Given the description of an element on the screen output the (x, y) to click on. 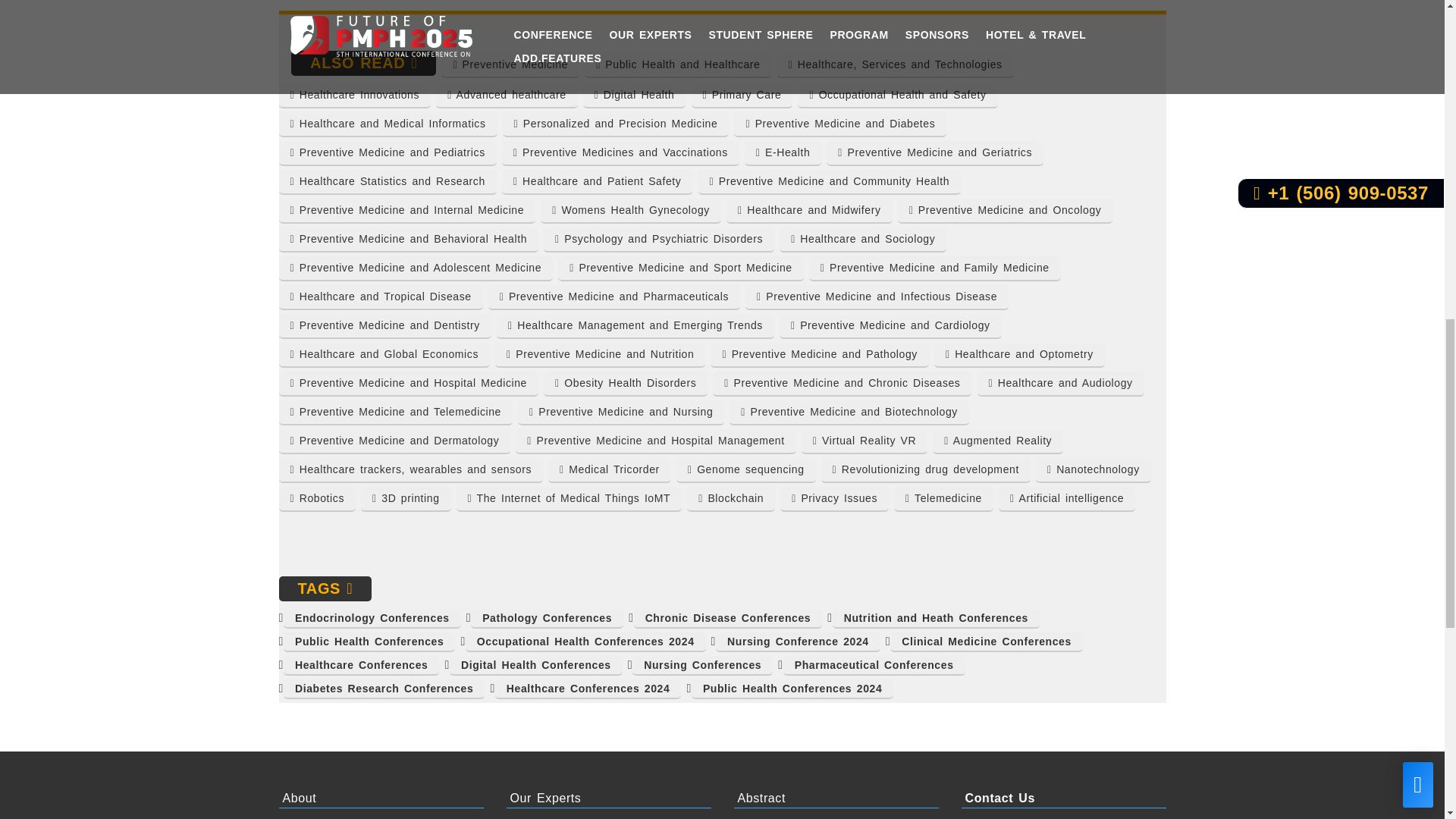
Preventive Medicine and Diabetes (839, 124)
Preventive Medicine and Internal Medicine (407, 211)
Advanced healthcare (505, 95)
Primary Care (742, 95)
Healthcare and Medical Informatics (388, 124)
Preventive Medicine and Geriatrics (935, 153)
Public Health and Healthcare (678, 65)
Healthcare, Services and Technologies (895, 65)
Personalized and Precision Medicine (615, 124)
Healthcare Statistics and Research (387, 181)
Preventive Medicine  (510, 65)
Healthcare Innovations (354, 95)
Digital Health (634, 95)
Preventive Medicine and Pediatrics (387, 153)
Occupational Health and Safety  (897, 95)
